Given the description of an element on the screen output the (x, y) to click on. 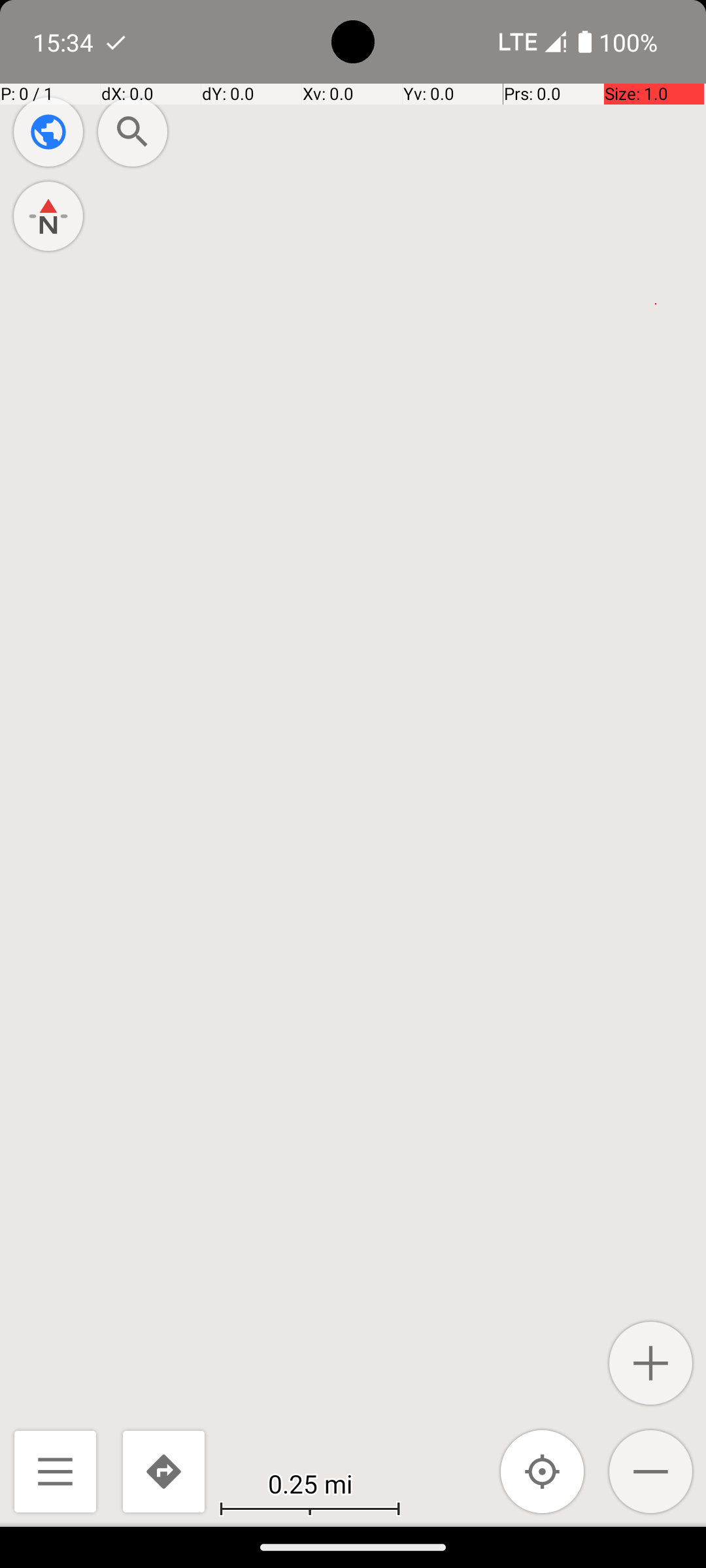
0.25 mi Element type: android.widget.TextView (309, 1483)
